Given the description of an element on the screen output the (x, y) to click on. 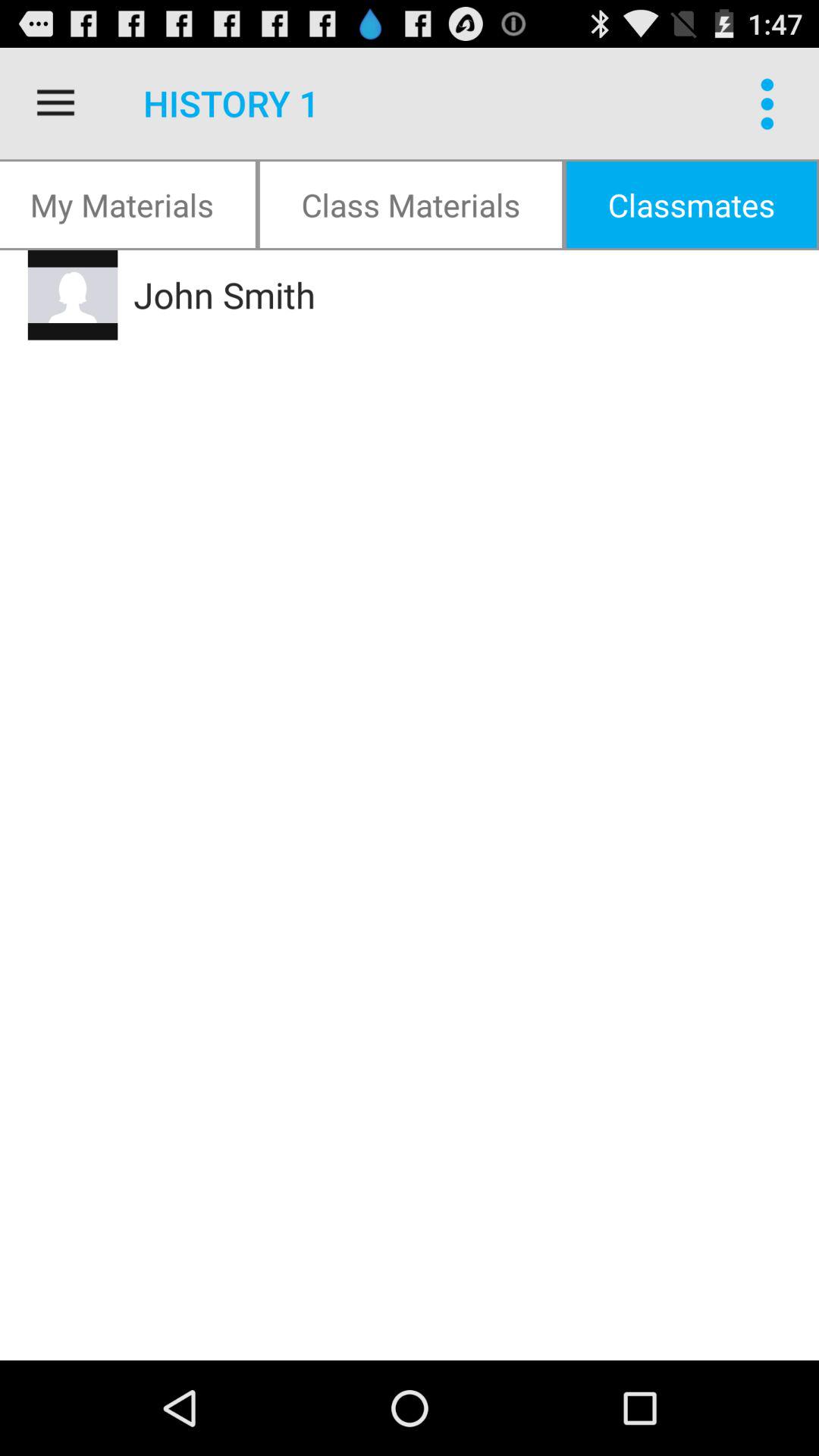
select the icon to the right of my materials item (410, 204)
